Given the description of an element on the screen output the (x, y) to click on. 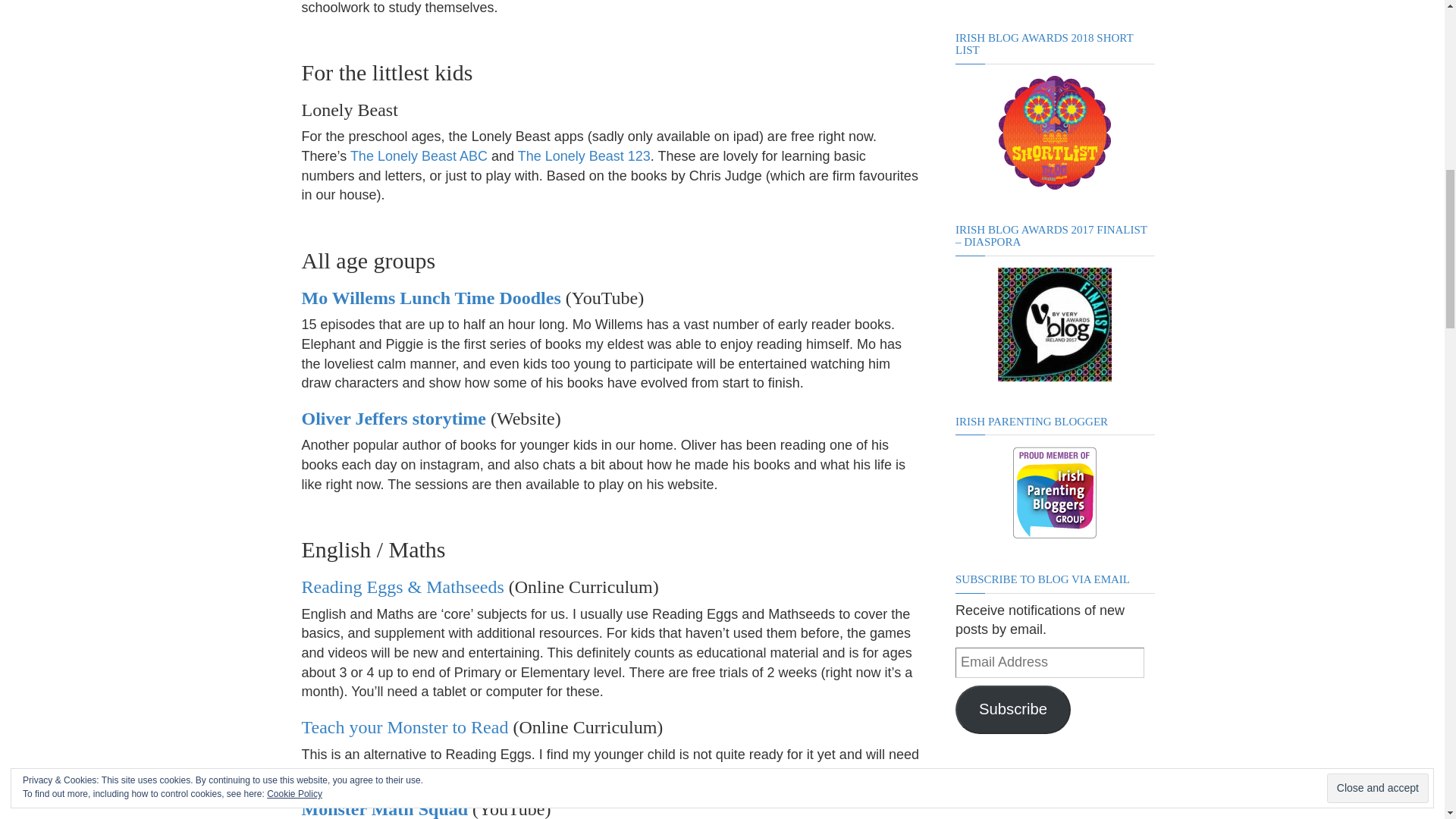
The Lonely Beast 123 (584, 155)
Teach your Monster to Read (404, 727)
Mo Willems Lunch Time Doodles (430, 297)
Oliver Jeffers storytime (393, 418)
The Lonely Beast ABC (418, 155)
